Given the description of an element on the screen output the (x, y) to click on. 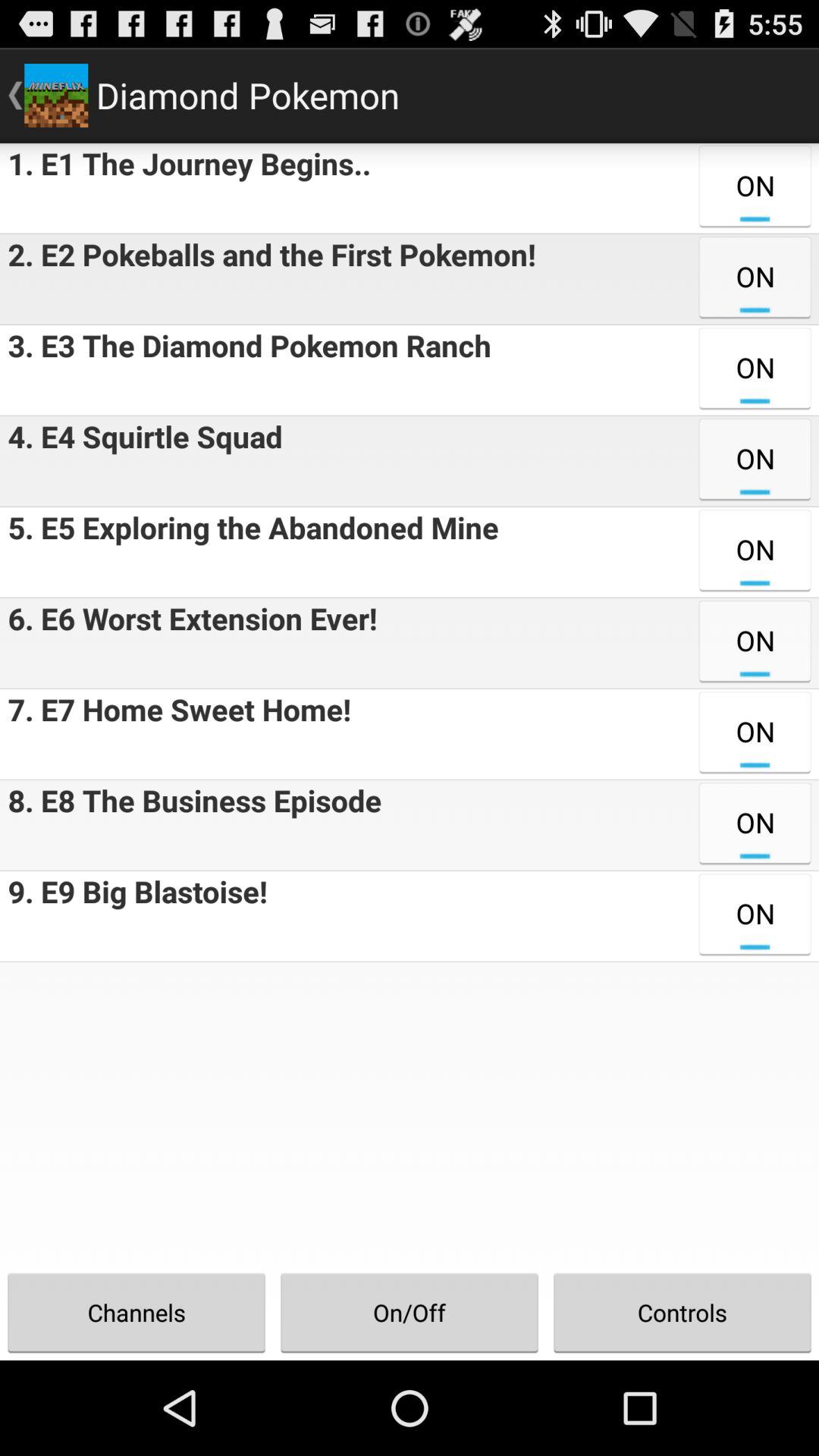
turn on the icon below on icon (682, 1312)
